Given the description of an element on the screen output the (x, y) to click on. 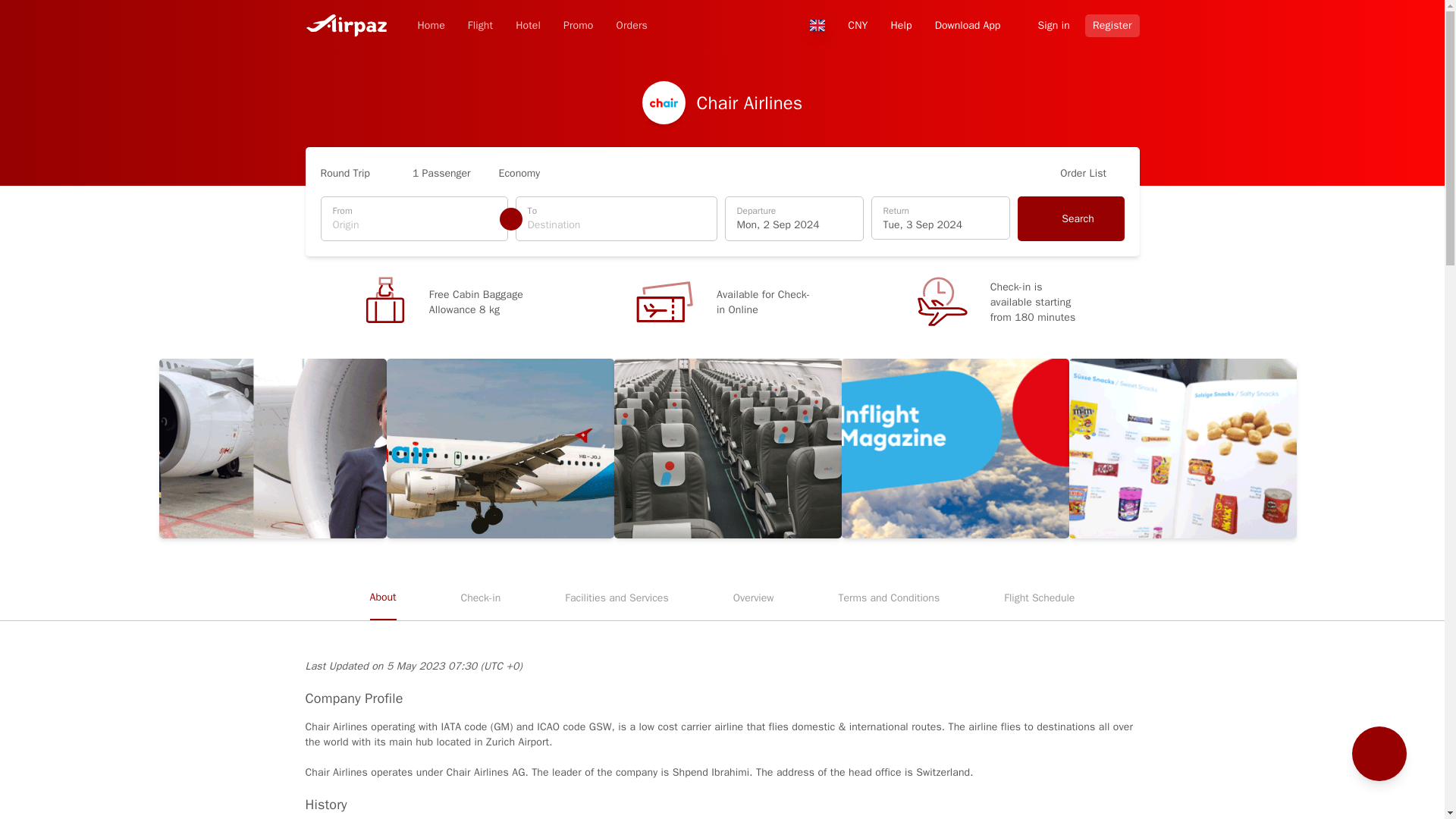
Round Trip (352, 173)
Search (794, 218)
Terms and Conditions (1070, 218)
Promo (889, 597)
Check-in (578, 25)
Hotel (480, 597)
Register (528, 25)
Flight (1111, 24)
Flight Schedule (480, 25)
